Given the description of an element on the screen output the (x, y) to click on. 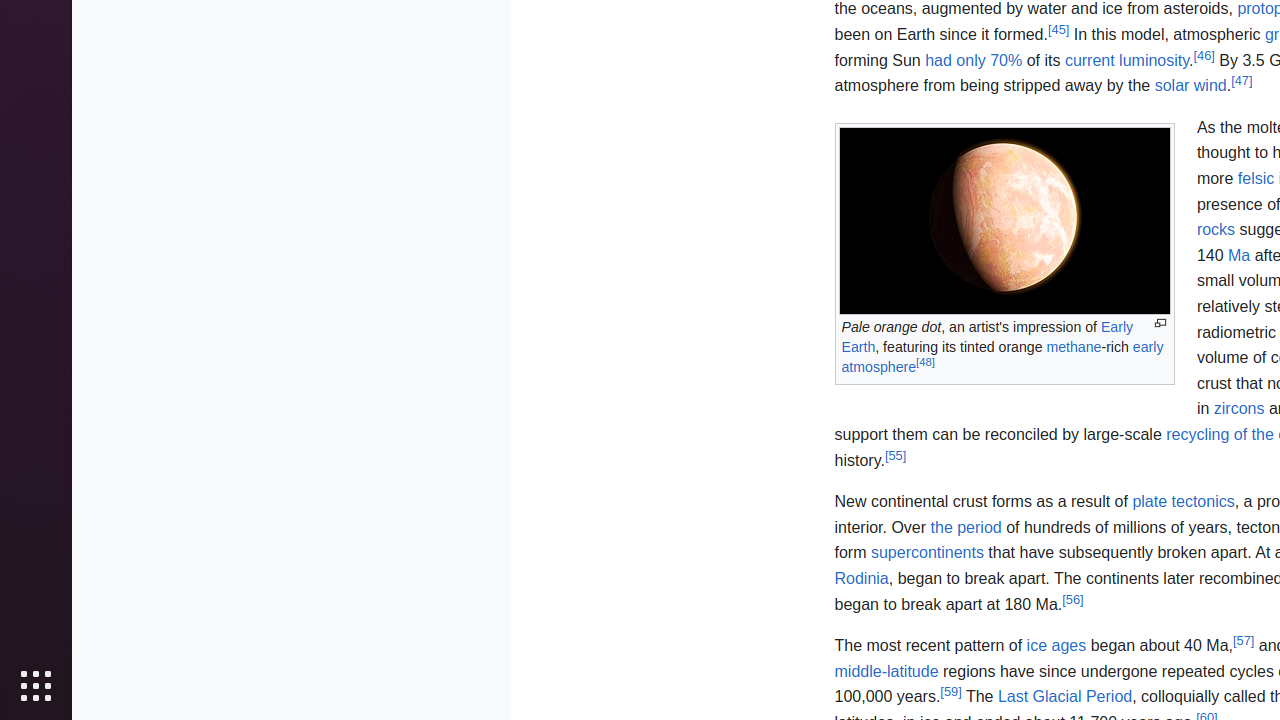
zircons Element type: link (1239, 409)
felsic Element type: link (1256, 179)
current luminosity Element type: link (1127, 60)
Rodinia Element type: link (861, 578)
[59] Element type: link (951, 691)
